Given the description of an element on the screen output the (x, y) to click on. 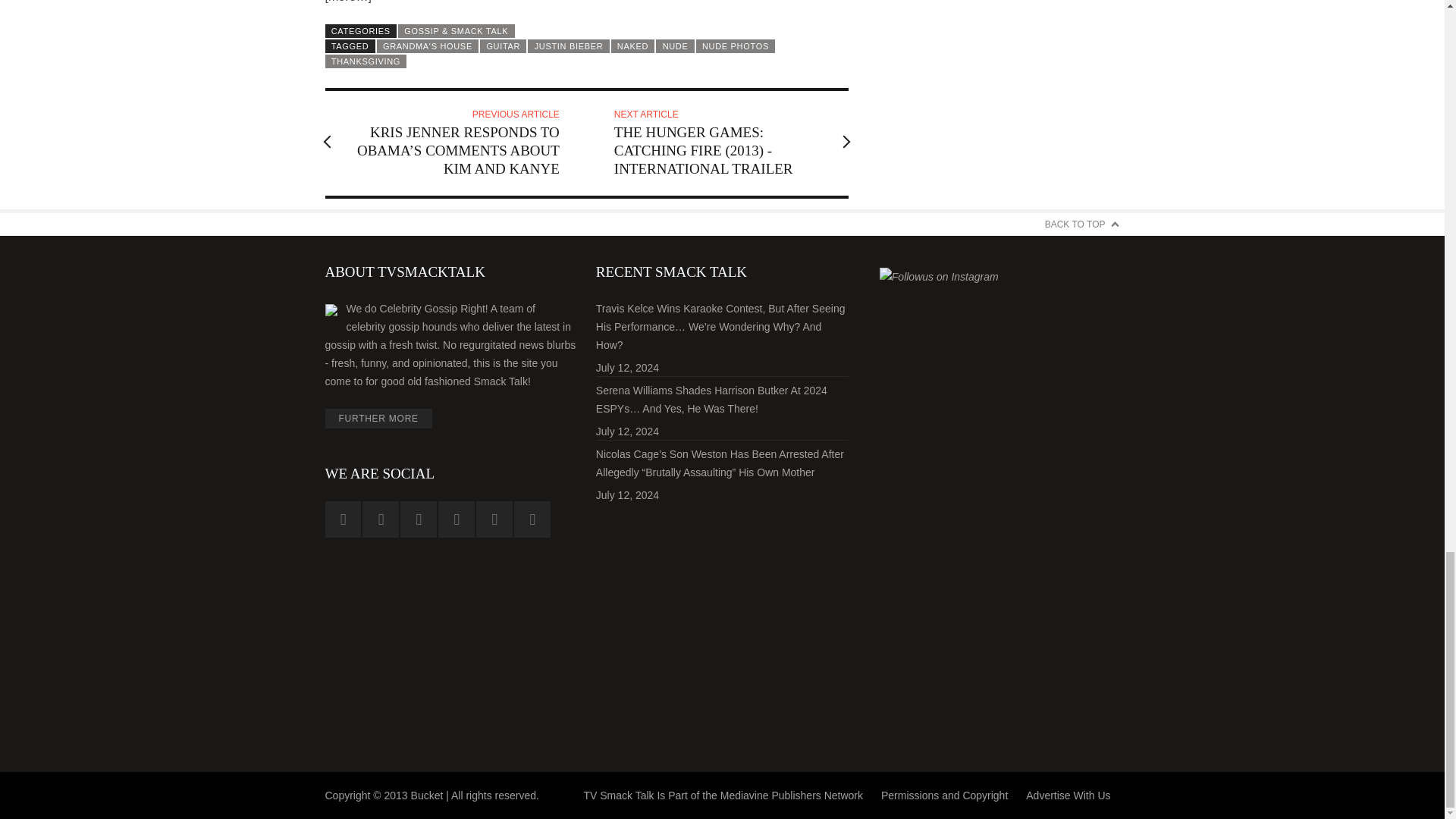
View all posts tagged Nude Photos (734, 46)
View all posts tagged Justin Bieber (567, 46)
View all posts tagged Naked (633, 46)
View all posts tagged Nude (675, 46)
View all posts tagged guitar (502, 46)
View all posts tagged Thanksgiving (365, 60)
View all posts tagged grandma's house (428, 46)
